Given the description of an element on the screen output the (x, y) to click on. 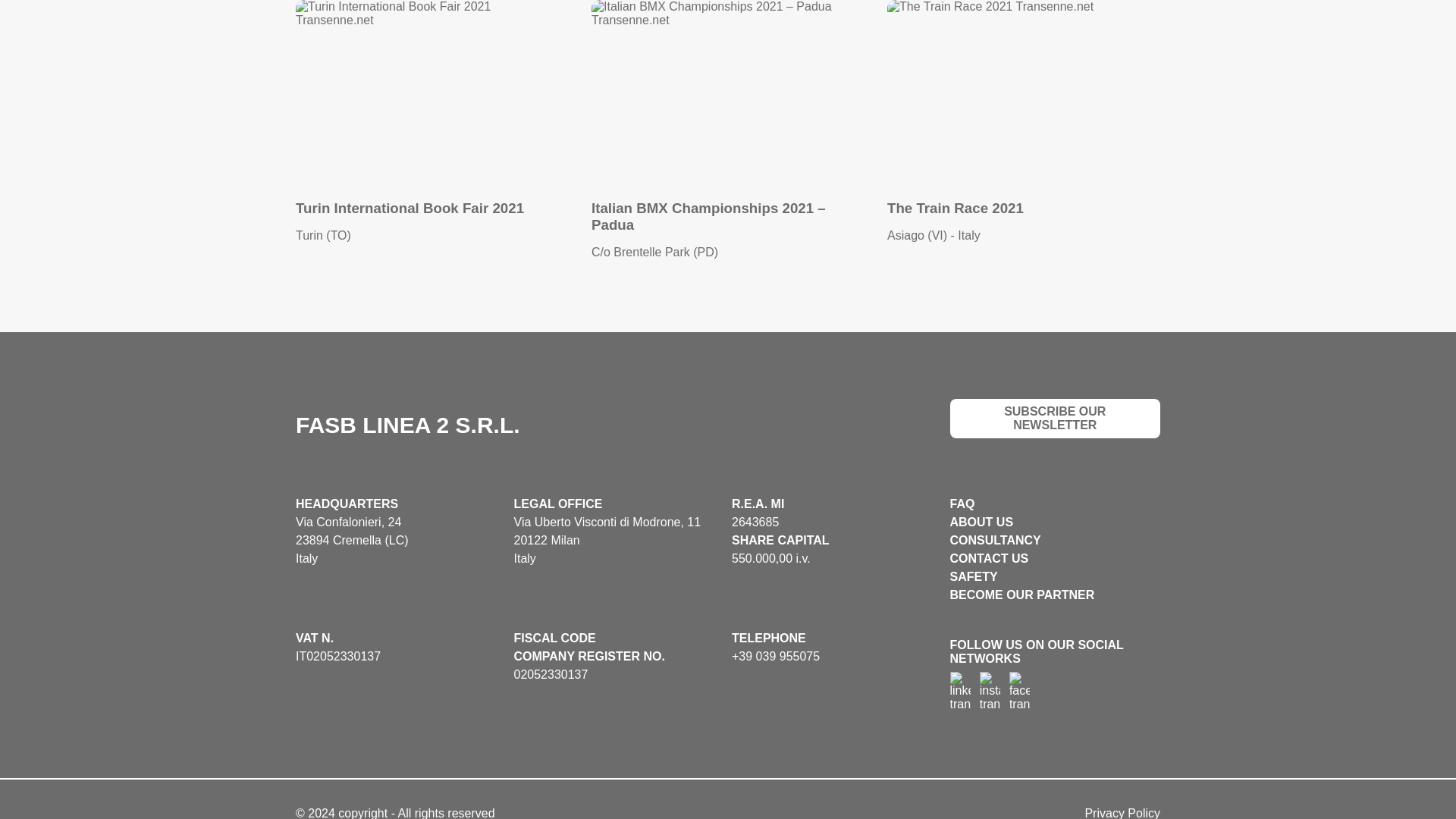
Turin International Book Fair 2021 Transenne.net (432, 90)
The Train Race 2021 Transenne.net (1023, 90)
Privacy Policy  (1122, 812)
